Given the description of an element on the screen output the (x, y) to click on. 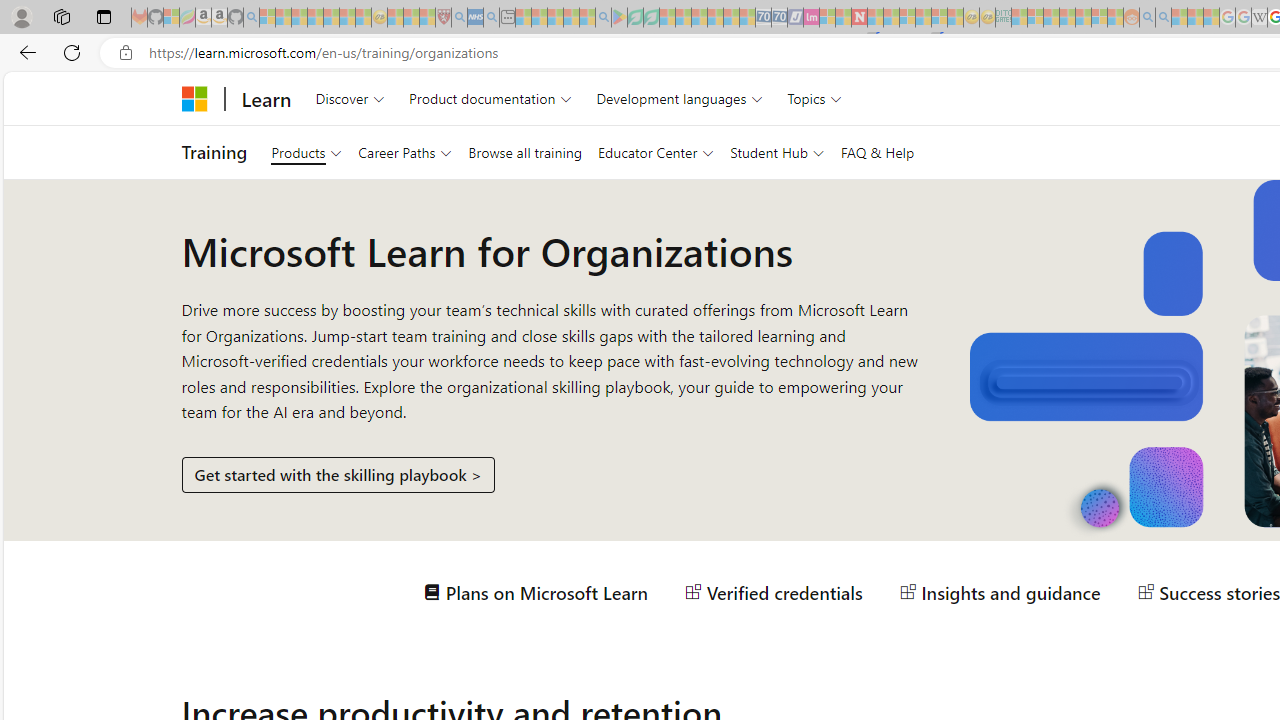
Microsoft (193, 98)
Products (306, 152)
FAQ & Help (877, 152)
Training (214, 152)
Browse all training (524, 152)
Local - MSN - Sleeping (427, 17)
Cheap Car Rentals - Save70.com - Sleeping (763, 17)
